Given the description of an element on the screen output the (x, y) to click on. 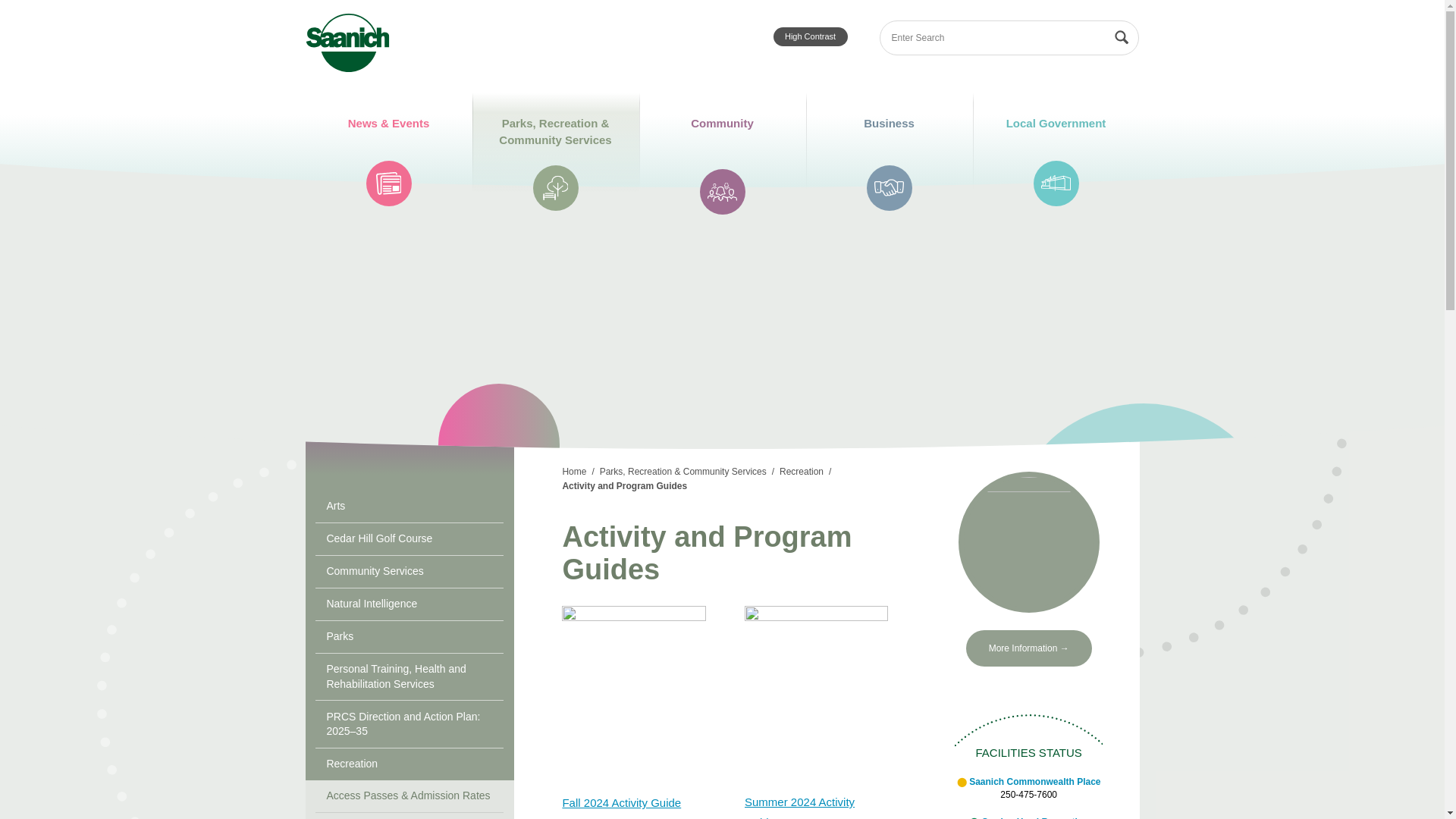
District of Saanich (347, 42)
Gordon Head Recreation Centre (1034, 817)
Saanich Commonwealth Place (810, 36)
Fall 2024 Activity Guide (1034, 781)
Home (621, 802)
Search (347, 42)
Community (1120, 37)
